Given the description of an element on the screen output the (x, y) to click on. 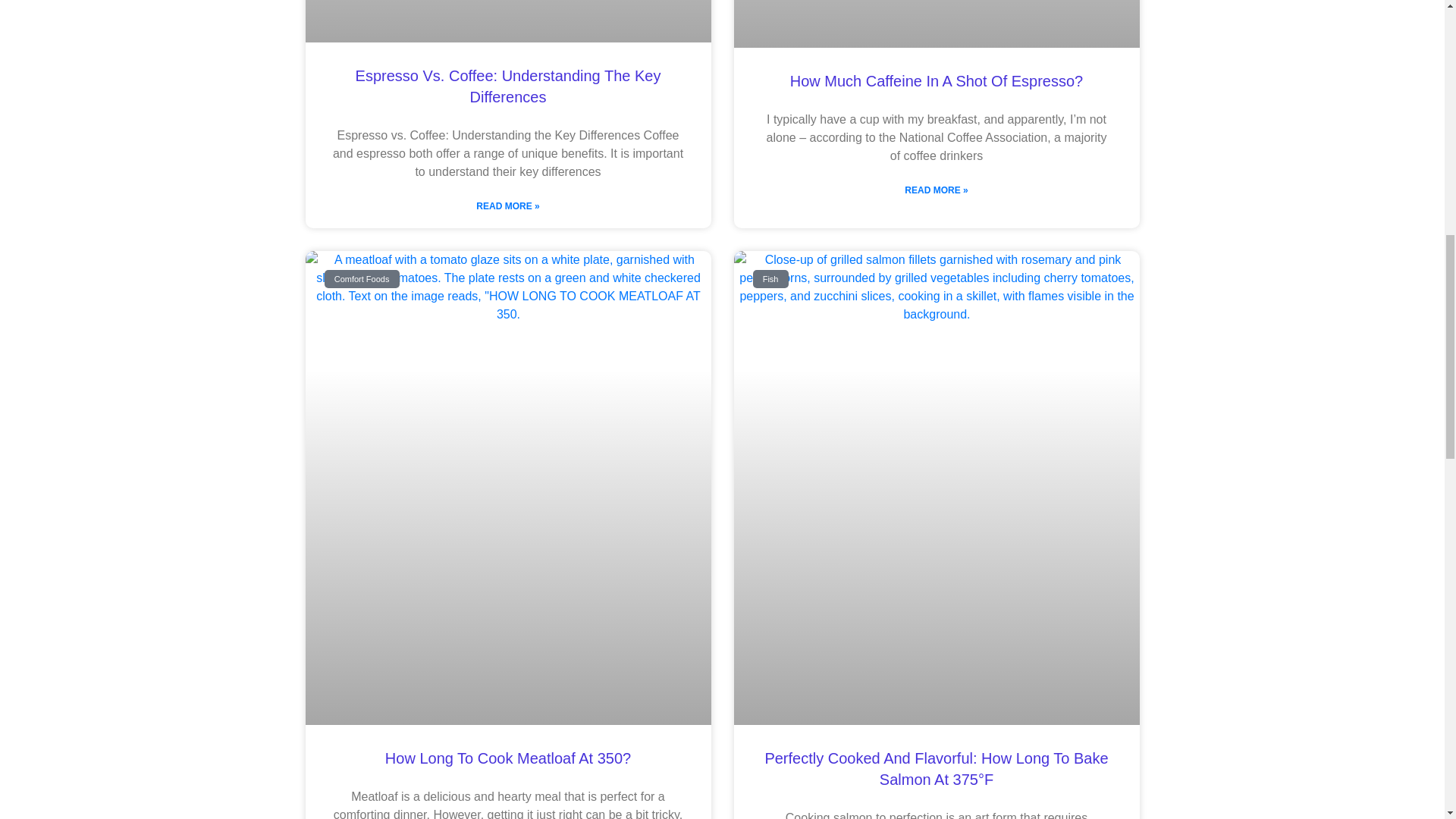
How Much Caffeine In A Shot Of Espresso? (936, 80)
How Long To Cook Meatloaf At 350? (507, 758)
Espresso Vs. Coffee: Understanding The Key Differences (508, 86)
